Given the description of an element on the screen output the (x, y) to click on. 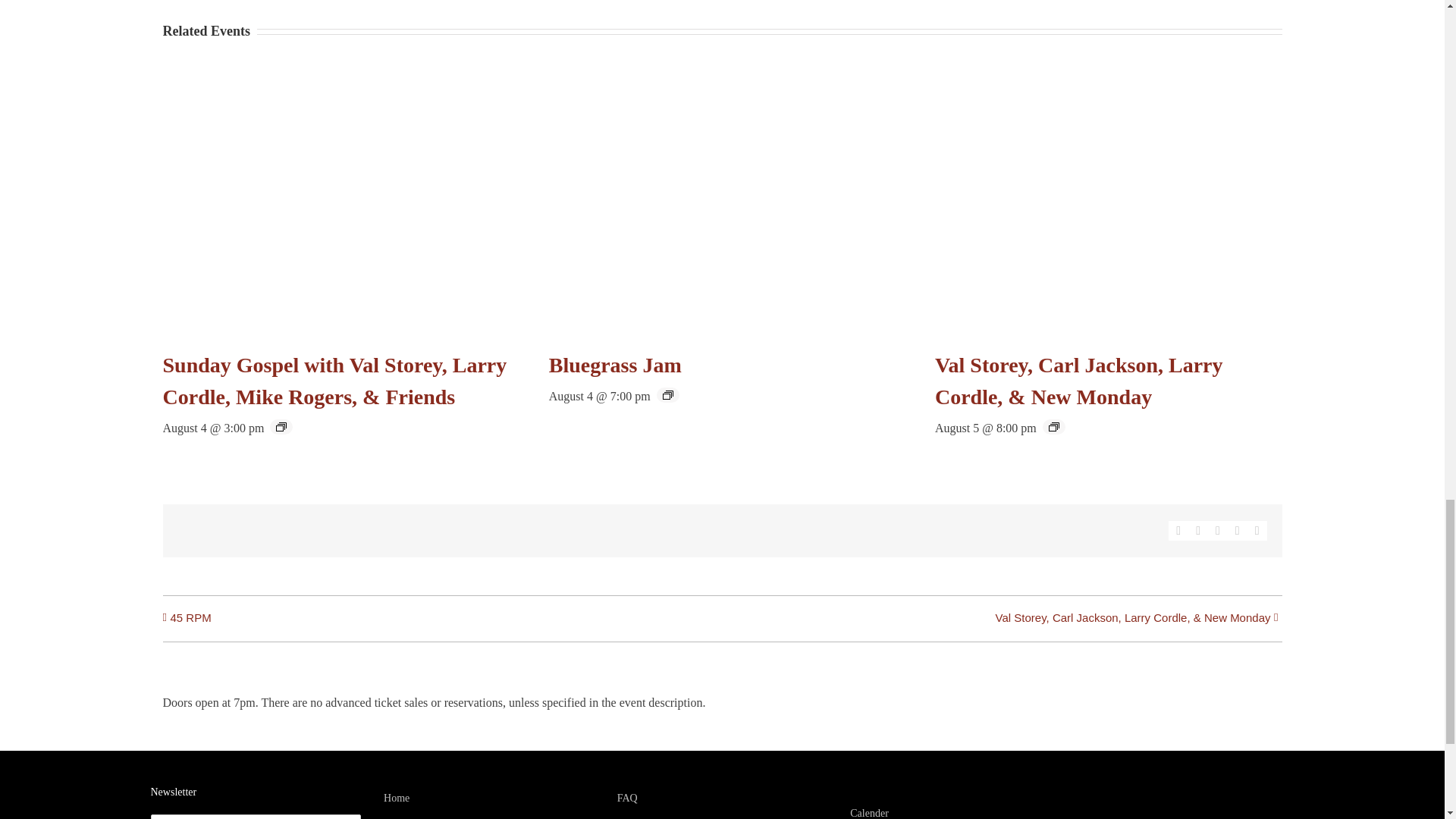
Event Series (1053, 426)
Event Series (667, 394)
Event Series (281, 426)
